Given the description of an element on the screen output the (x, y) to click on. 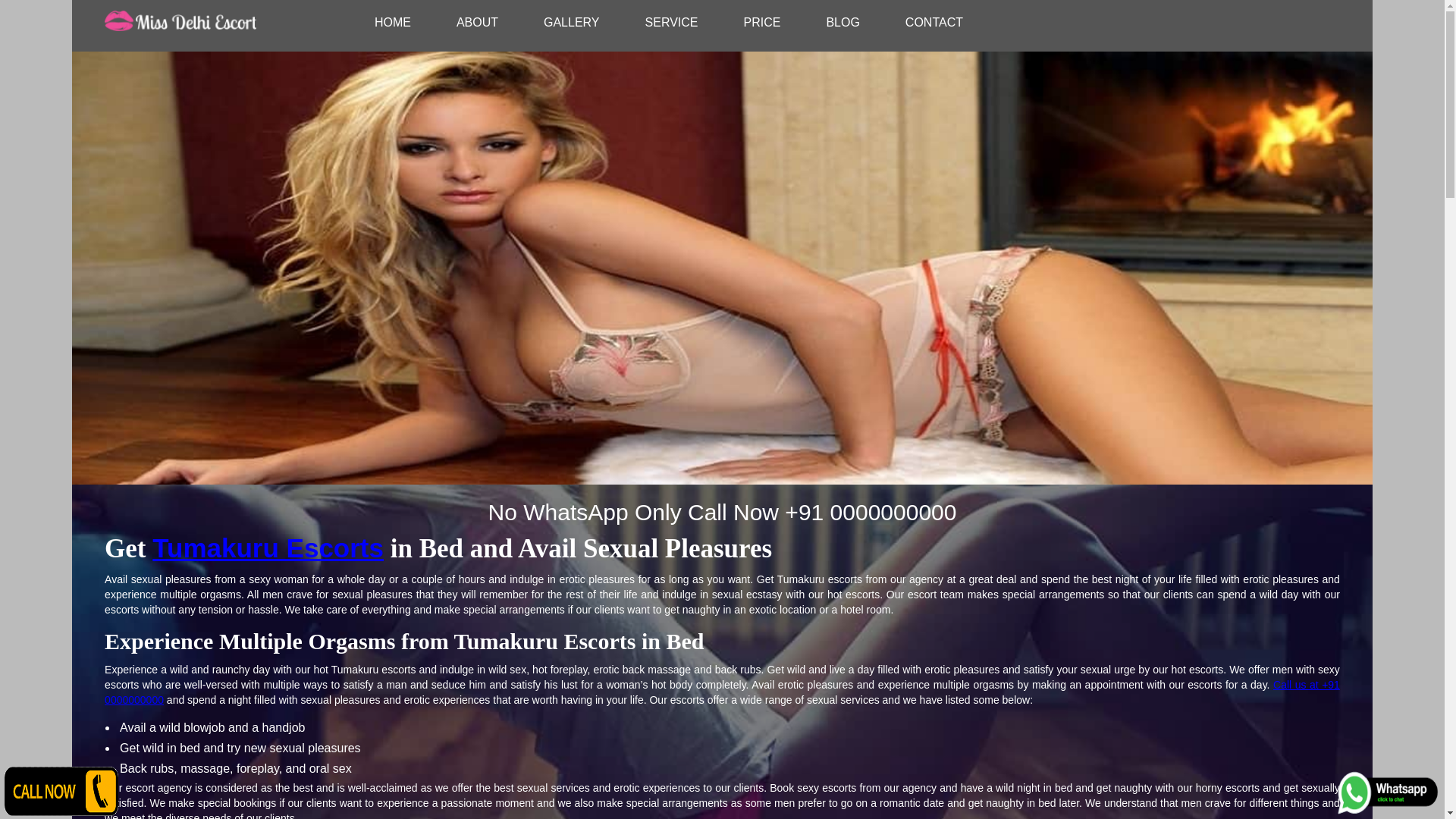
Miss Delhi Escort Logo (180, 22)
call now (60, 790)
GALLERY (572, 22)
SERVICE (671, 22)
Tumakuru Escorts (268, 547)
CONTACT (933, 22)
ABOUT (477, 22)
PRICE (761, 22)
HOME (392, 22)
